Given the description of an element on the screen output the (x, y) to click on. 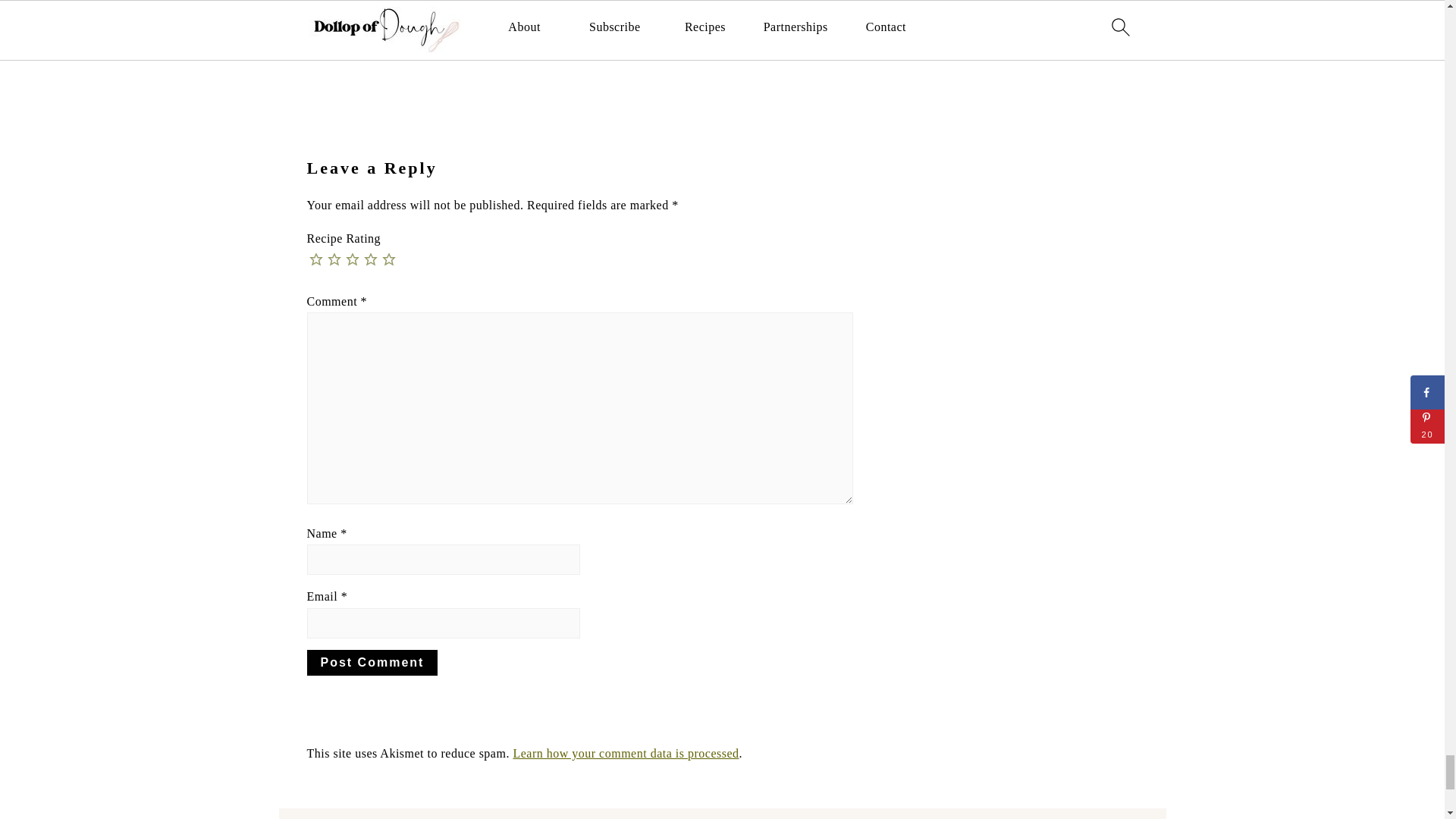
Post Comment (371, 662)
